Given the description of an element on the screen output the (x, y) to click on. 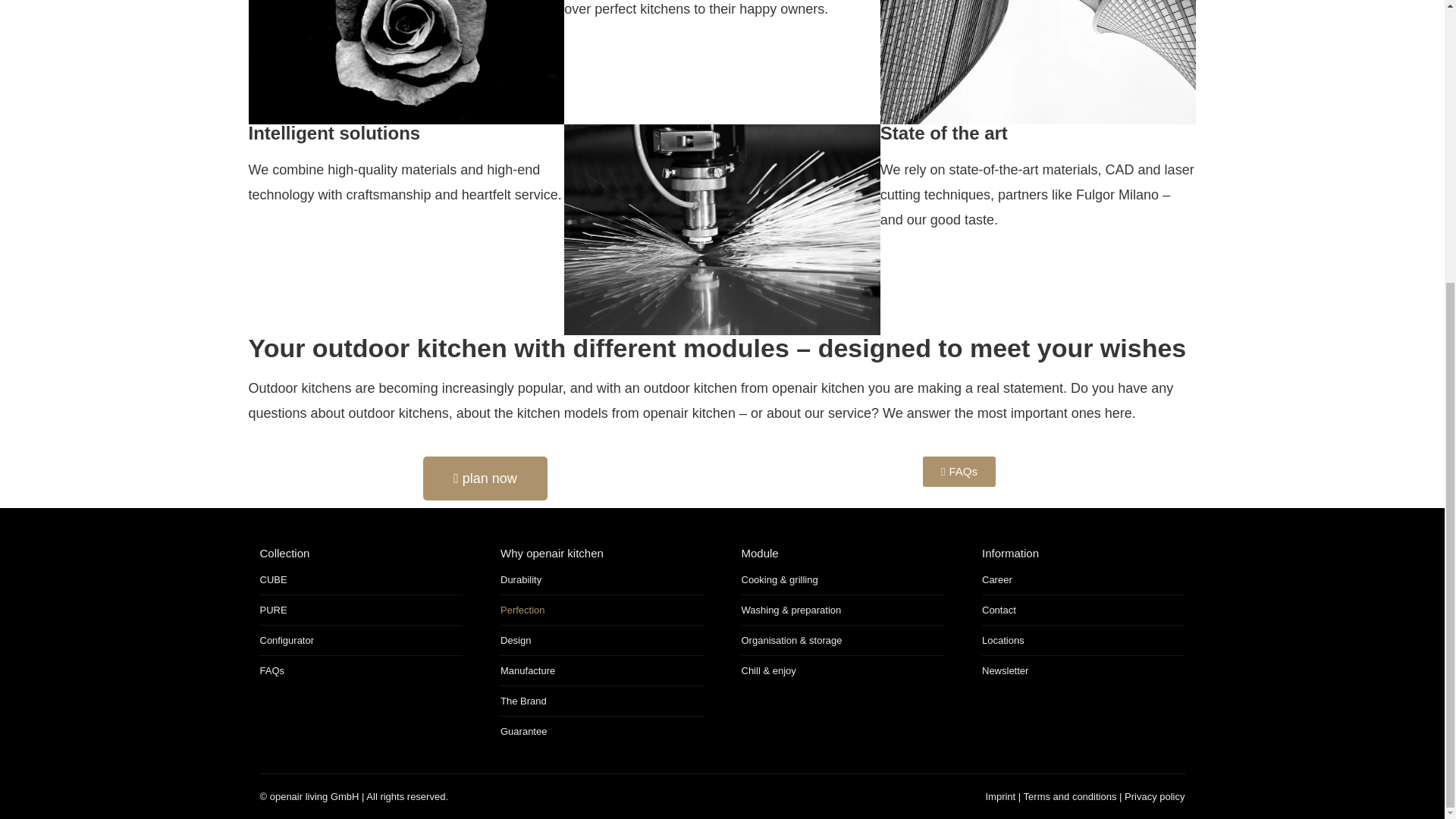
Terms and conditions (1069, 796)
Imprint (999, 796)
